Given the description of an element on the screen output the (x, y) to click on. 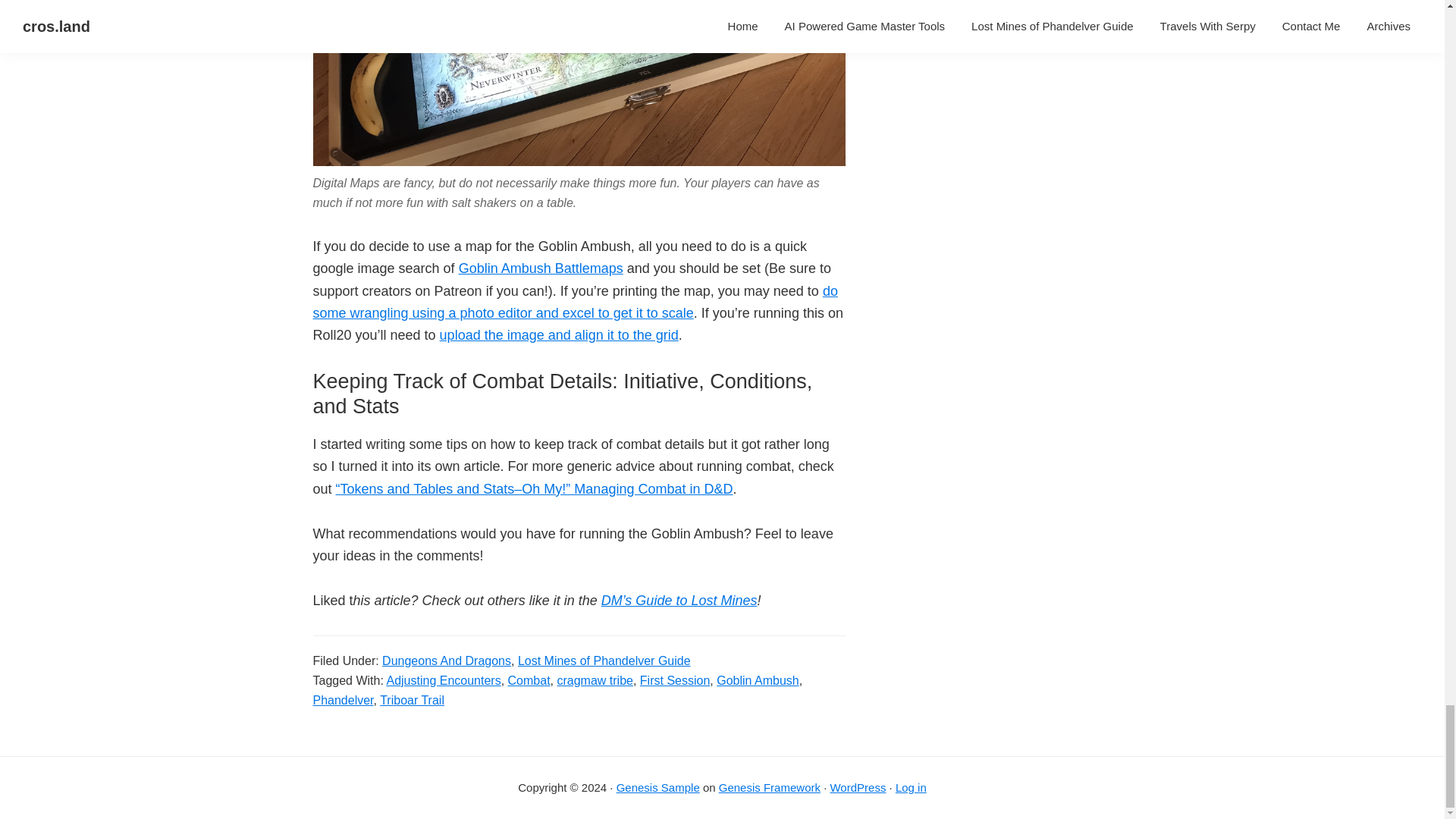
First Session (675, 680)
Goblin Ambush (757, 680)
Combat (529, 680)
upload the image and align it to the grid (558, 335)
Lost Mines of Phandelver Guide (604, 660)
Dungeons And Dragons (446, 660)
Adjusting Encounters (442, 680)
cragmaw tribe (593, 680)
Goblin Ambush Battlemaps (540, 268)
